Given the description of an element on the screen output the (x, y) to click on. 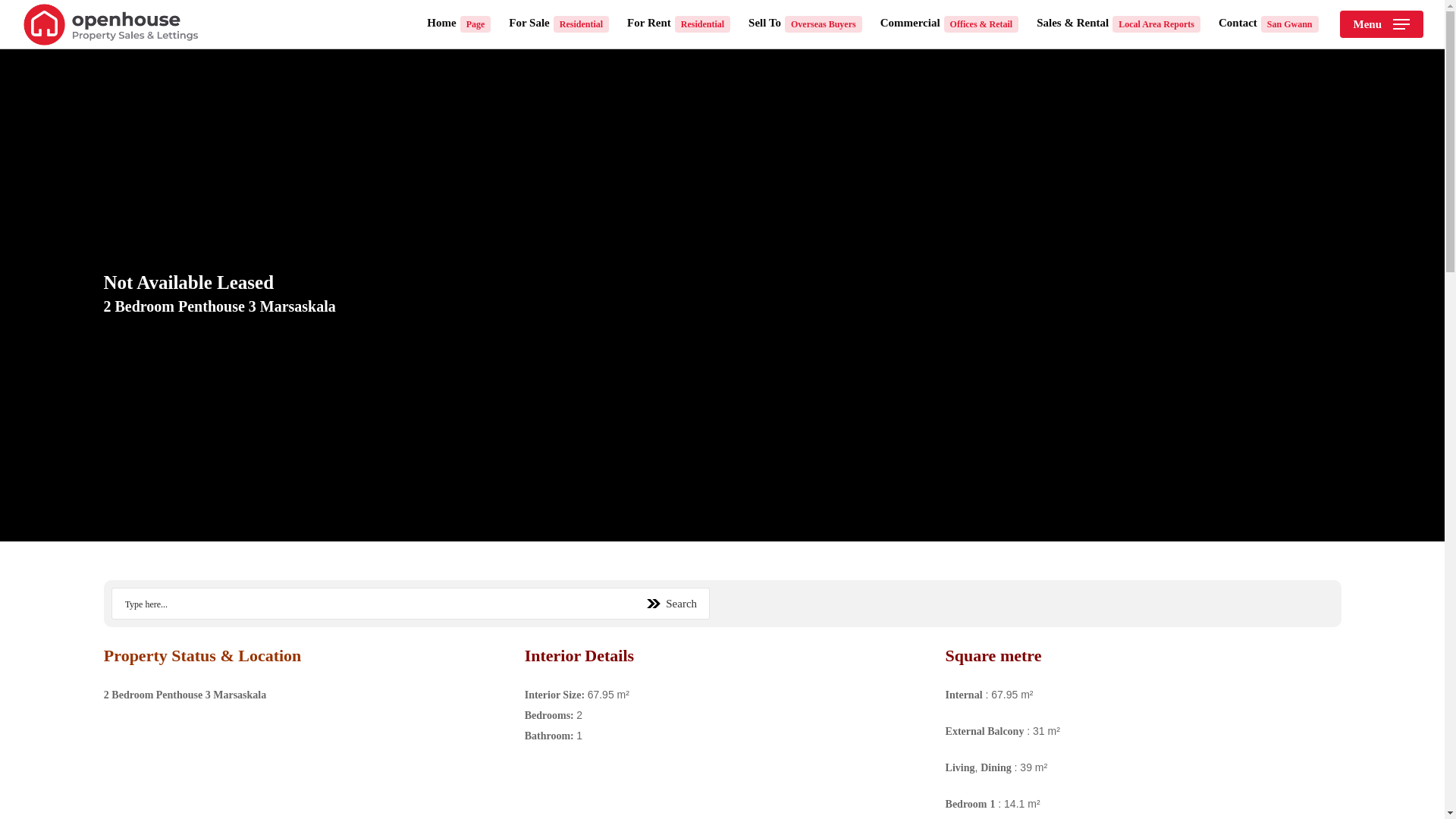
Search (673, 603)
Sell ToOverseas Buyers (804, 23)
HomePage (458, 23)
Menu (1381, 24)
For RentResidential (678, 23)
ContactSan Gwann (1268, 23)
For SaleResidential (558, 23)
